Given the description of an element on the screen output the (x, y) to click on. 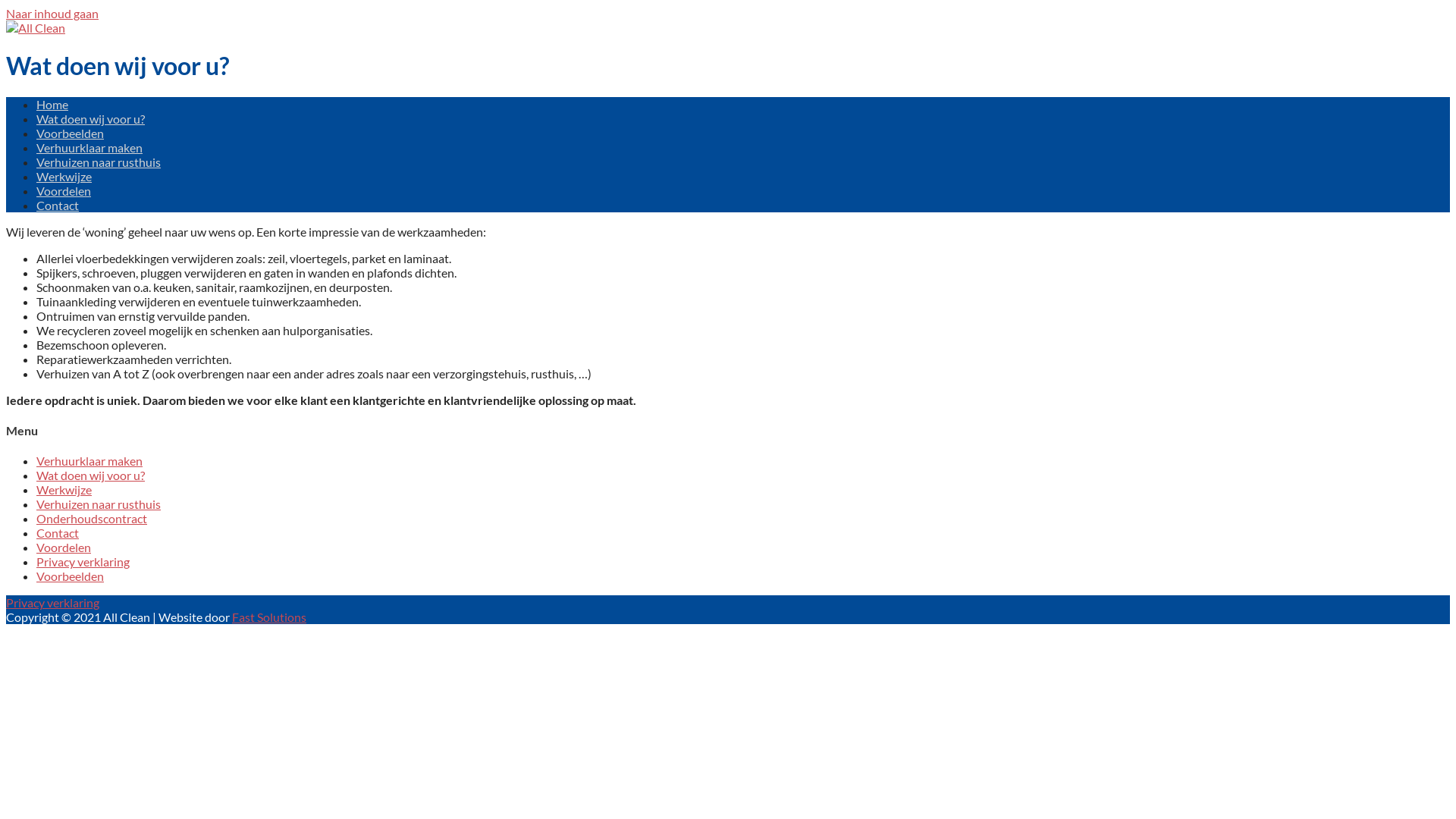
Verhuurklaar maken Element type: text (89, 147)
Werkwijze Element type: text (63, 489)
Voordelen Element type: text (63, 546)
Voorbeelden Element type: text (69, 575)
Privacy verklaring Element type: text (82, 561)
Voordelen Element type: text (63, 190)
Verhuizen naar rusthuis Element type: text (98, 503)
Wat doen wij voor u? Element type: text (90, 474)
Wat doen wij voor u? Element type: text (90, 118)
Fast Solutions Element type: text (269, 616)
Home Element type: text (52, 104)
Onderhoudscontract Element type: text (91, 518)
Verhuizen naar rusthuis Element type: text (98, 161)
Naar inhoud gaan Element type: text (52, 13)
Contact Element type: text (57, 532)
Contact Element type: text (57, 204)
Voorbeelden Element type: text (69, 132)
Werkwijze Element type: text (63, 176)
Privacy verklaring Element type: text (52, 602)
Verhuurklaar maken Element type: text (89, 460)
